Given the description of an element on the screen output the (x, y) to click on. 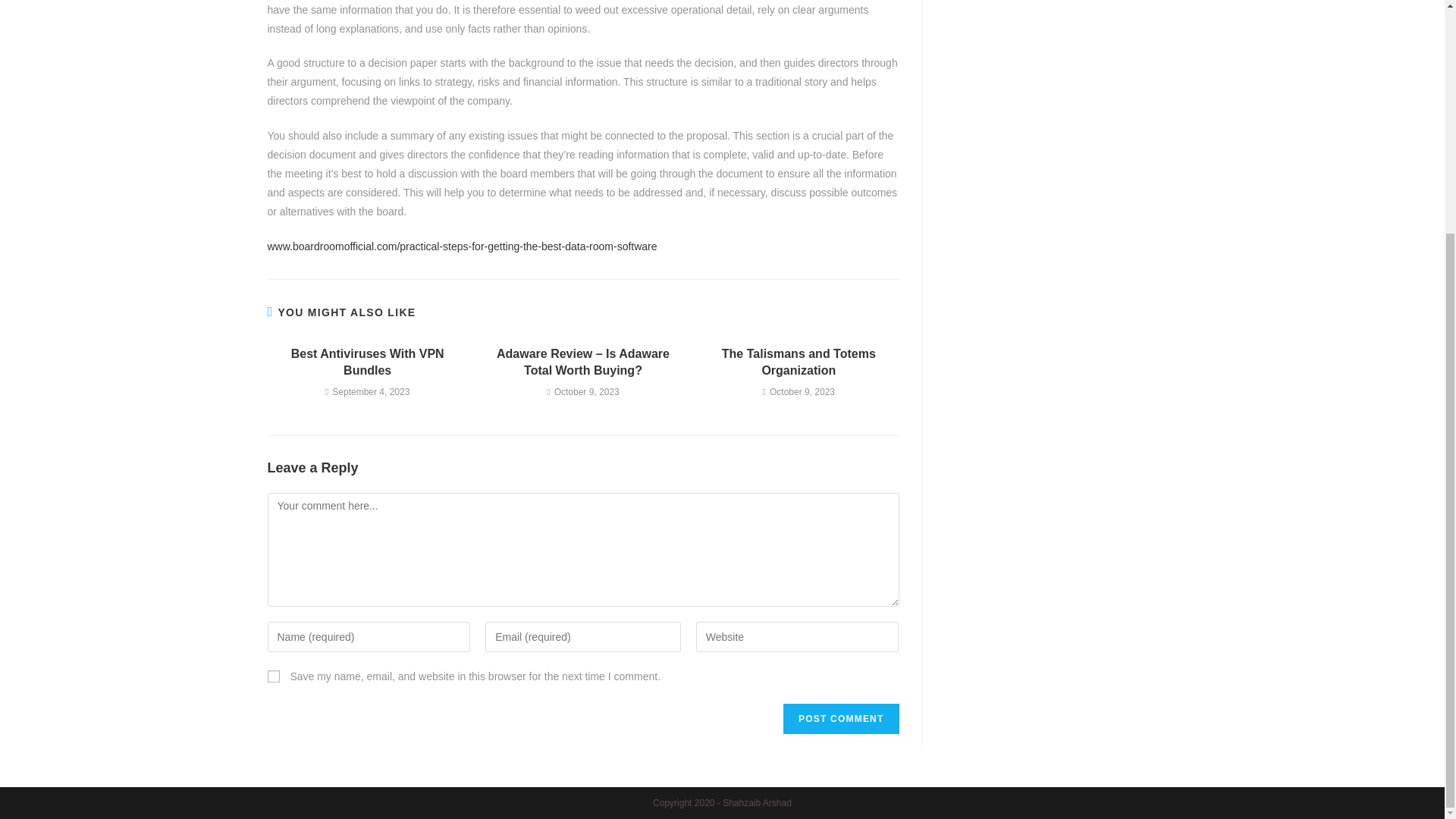
The Talismans and Totems Organization (798, 362)
Post Comment (840, 718)
yes (272, 676)
The Talismans and Totems Organization (798, 362)
Best Antiviruses With VPN Bundles (367, 362)
Best Antiviruses With VPN Bundles (367, 362)
Post Comment (840, 718)
